Given the description of an element on the screen output the (x, y) to click on. 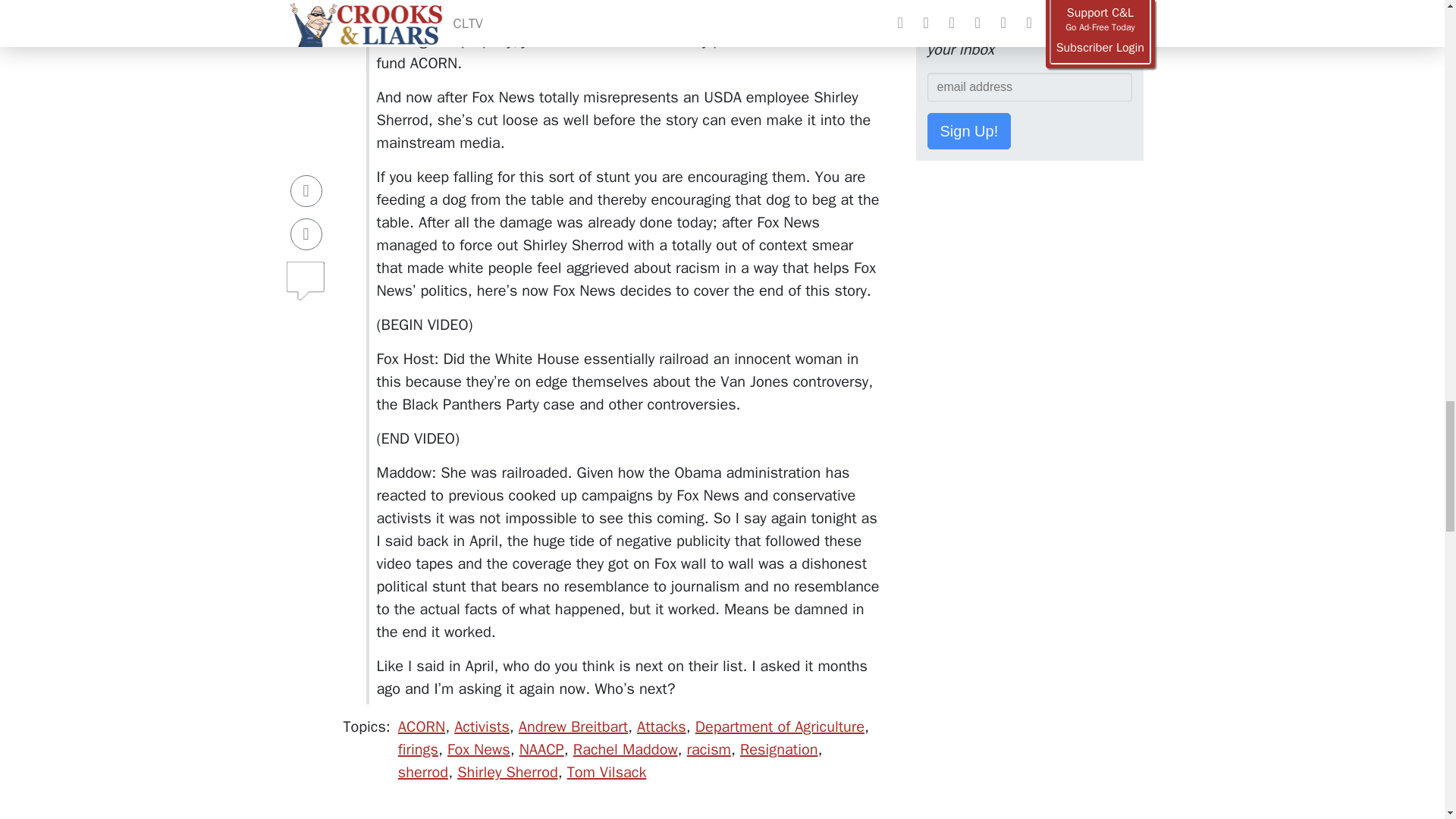
Activists (481, 726)
Rachel Maddow (625, 749)
Fox News (478, 749)
ACORN (421, 726)
firings (417, 749)
NAACP (541, 749)
Andrew Breitbart (572, 726)
Attacks (661, 726)
Department of Agriculture (779, 726)
